Given the description of an element on the screen output the (x, y) to click on. 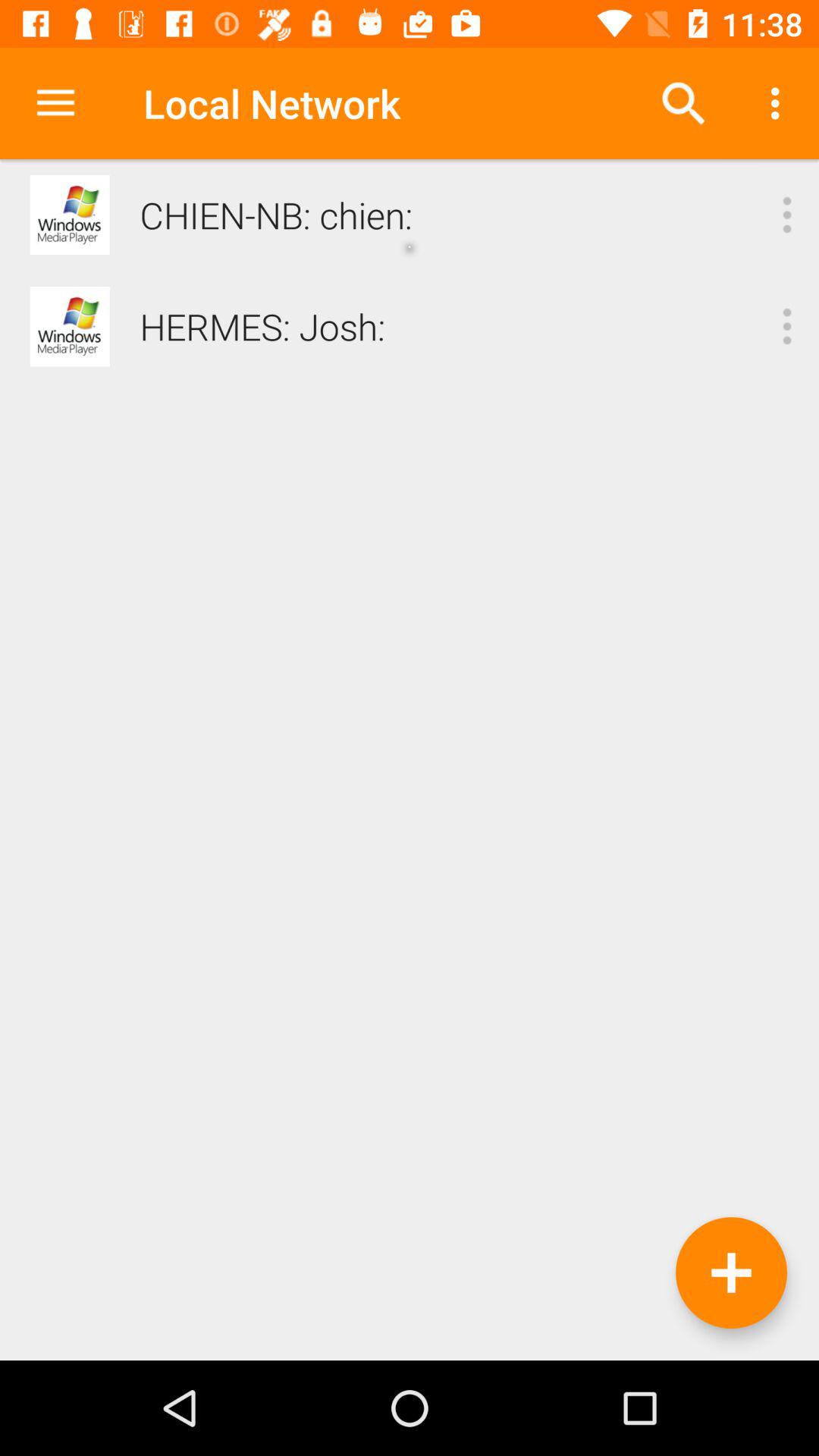
show options (787, 214)
